Given the description of an element on the screen output the (x, y) to click on. 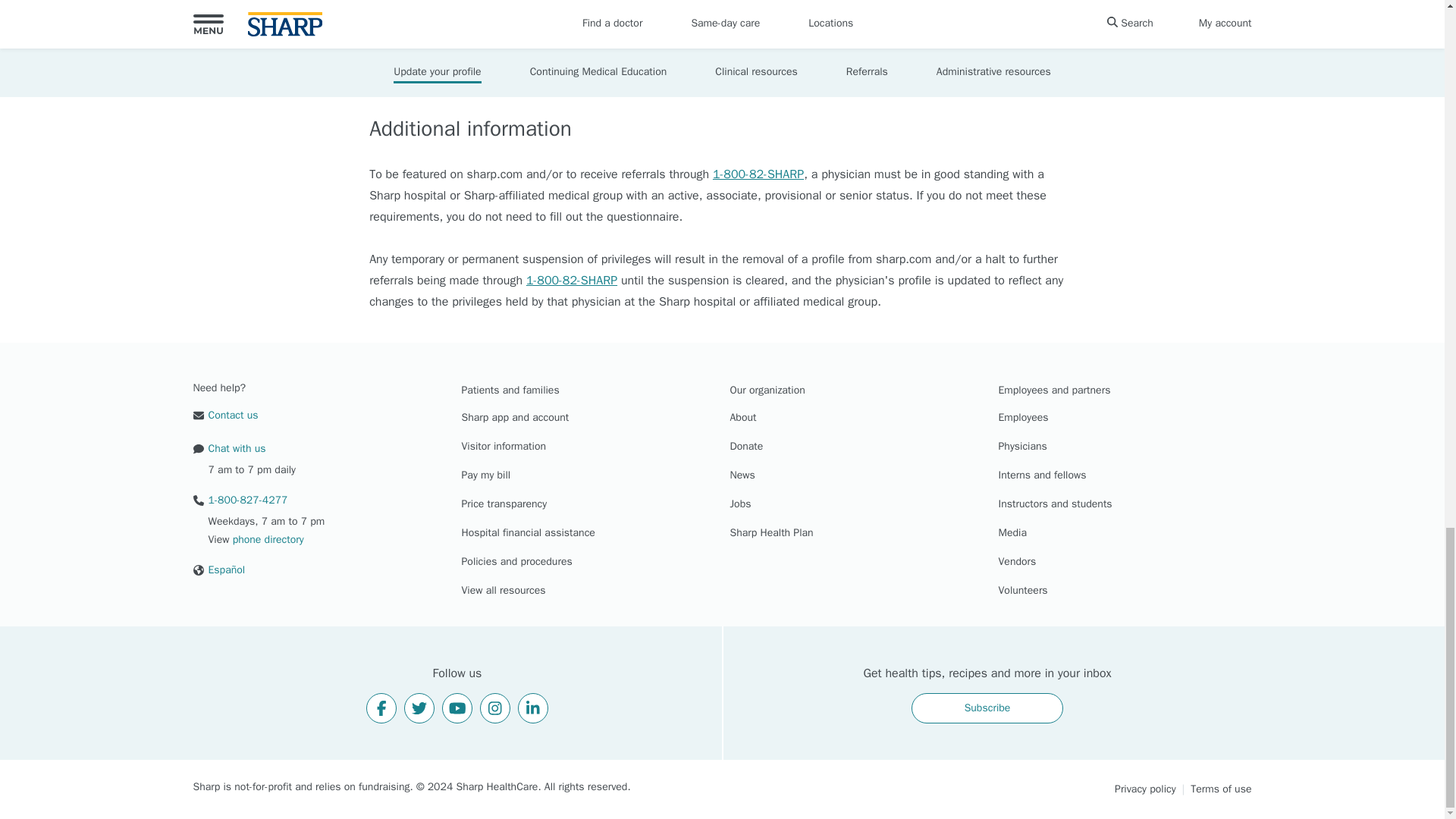
Twitter (418, 707)
YouTube (456, 707)
Visitor information (503, 447)
Instagram (495, 707)
1-800-827-4277 (239, 500)
Policies and procedures (516, 562)
Hospital financial assistance (527, 534)
Chat with us (228, 448)
1-800-82-SHARP (758, 174)
News (741, 476)
